Given the description of an element on the screen output the (x, y) to click on. 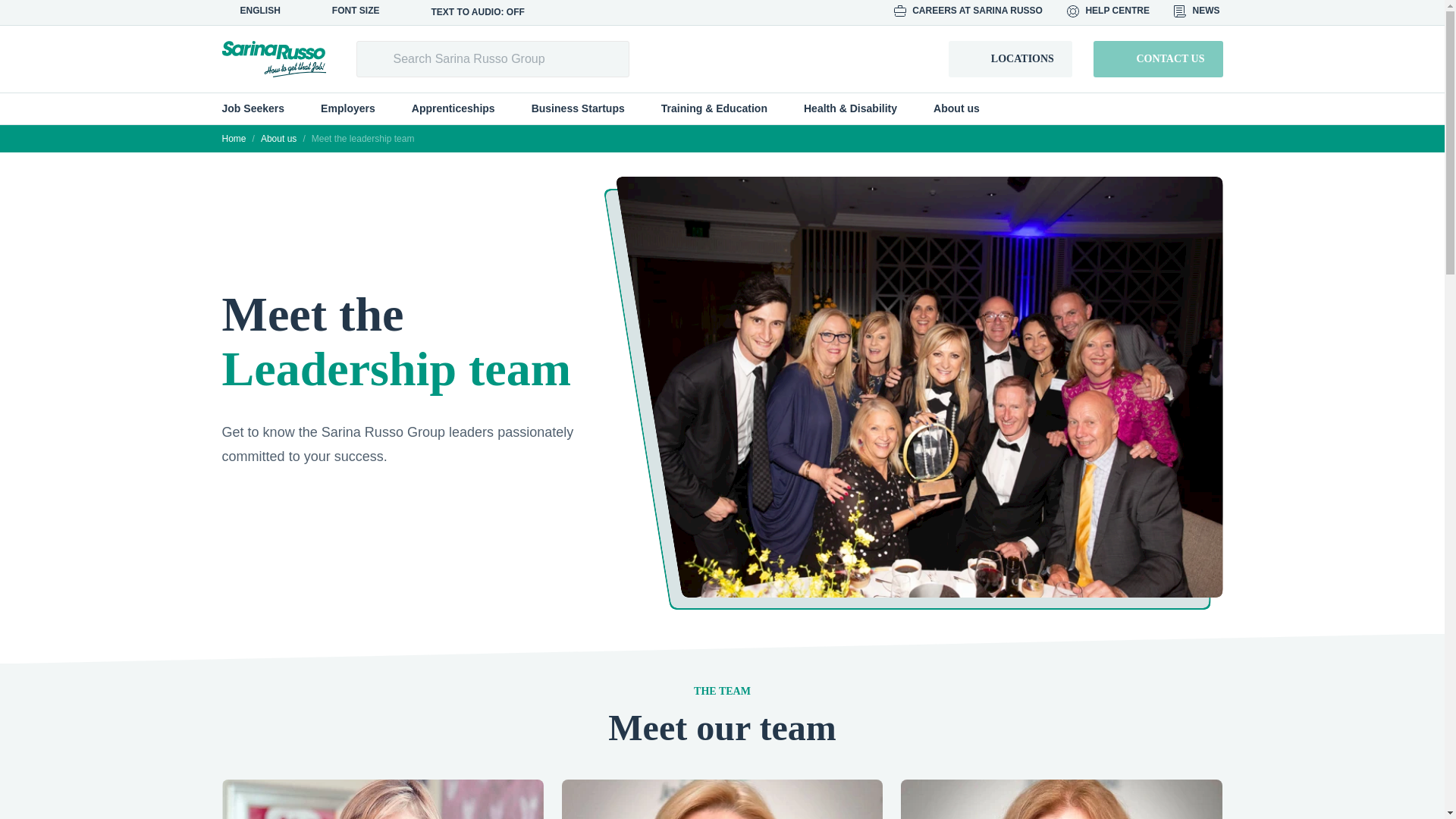
HELP CENTRE (1110, 10)
ENGLISH (258, 10)
TEXT TO AUDIO: OFF (470, 11)
NEWS (1198, 10)
CAREERS AT SARINA RUSSO (969, 10)
LOCATIONS (1010, 58)
FONT SIZE (354, 10)
CONTACT US (1158, 58)
